Given the description of an element on the screen output the (x, y) to click on. 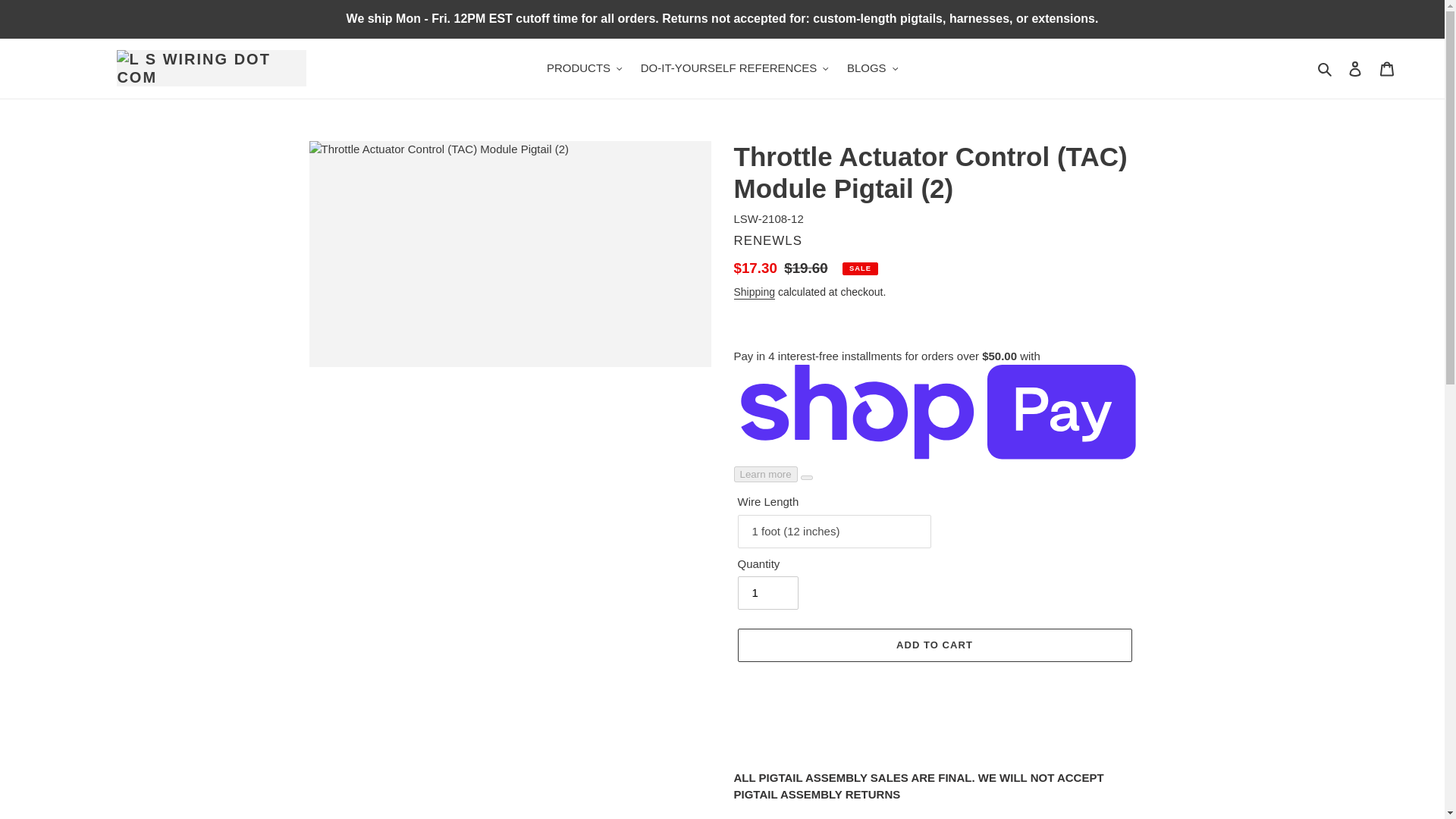
DO-IT-YOURSELF REFERENCES (734, 68)
PRODUCTS (584, 68)
Cart (1387, 68)
Search (1326, 67)
Log in (1355, 68)
BLOGS (872, 68)
1 (766, 592)
